Given the description of an element on the screen output the (x, y) to click on. 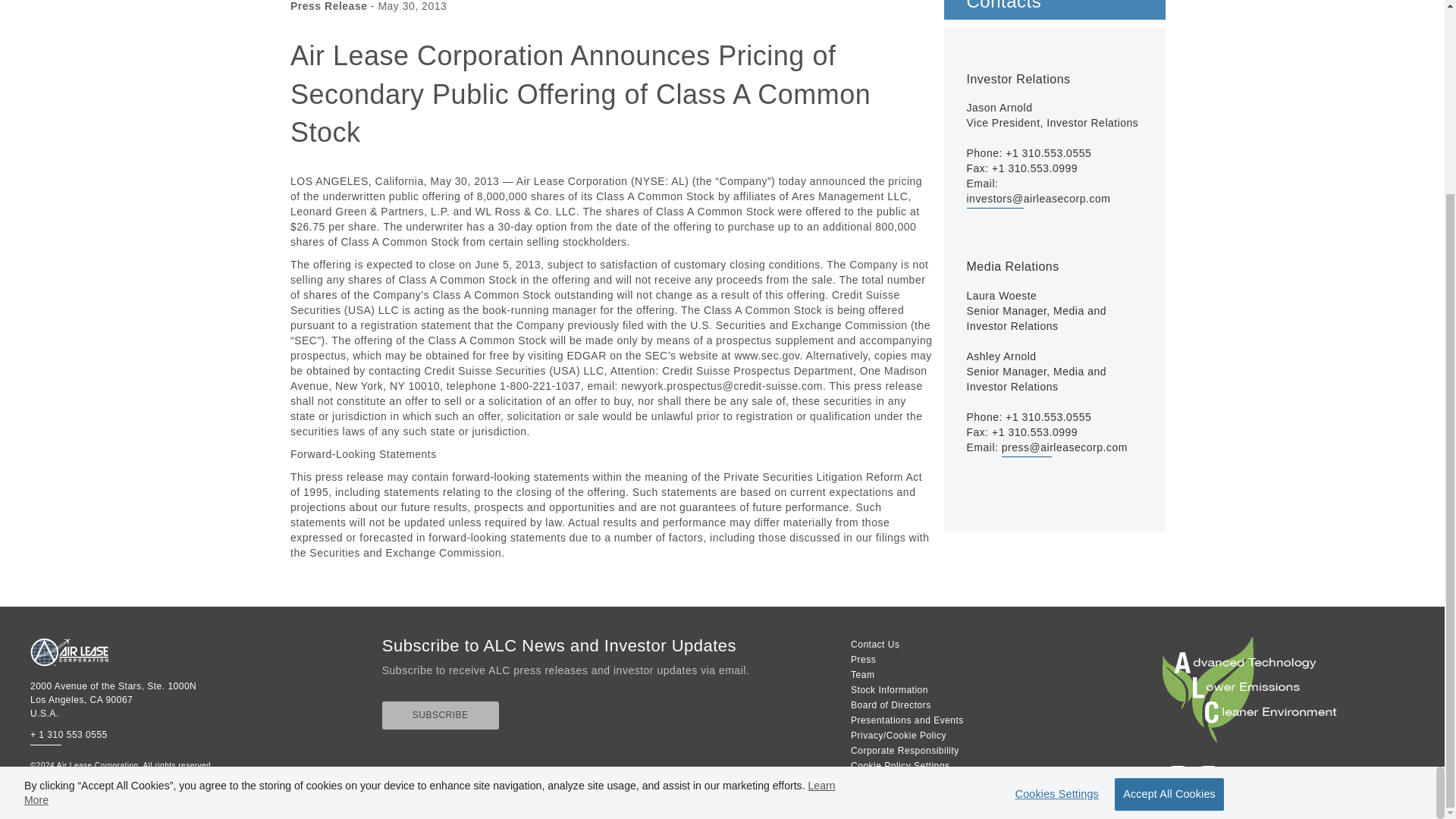
SUBSCRIBE (440, 715)
Cookie Policy Settings (899, 765)
Open Preference Center Button (1053, 549)
Accept Cookies Button (1169, 549)
Air Lease Corporation Logo (68, 652)
Contact Us (874, 644)
Presentations and Events (906, 719)
Footer Navigation (956, 705)
Team (862, 674)
Accessibility Statement (1285, 777)
